Given the description of an element on the screen output the (x, y) to click on. 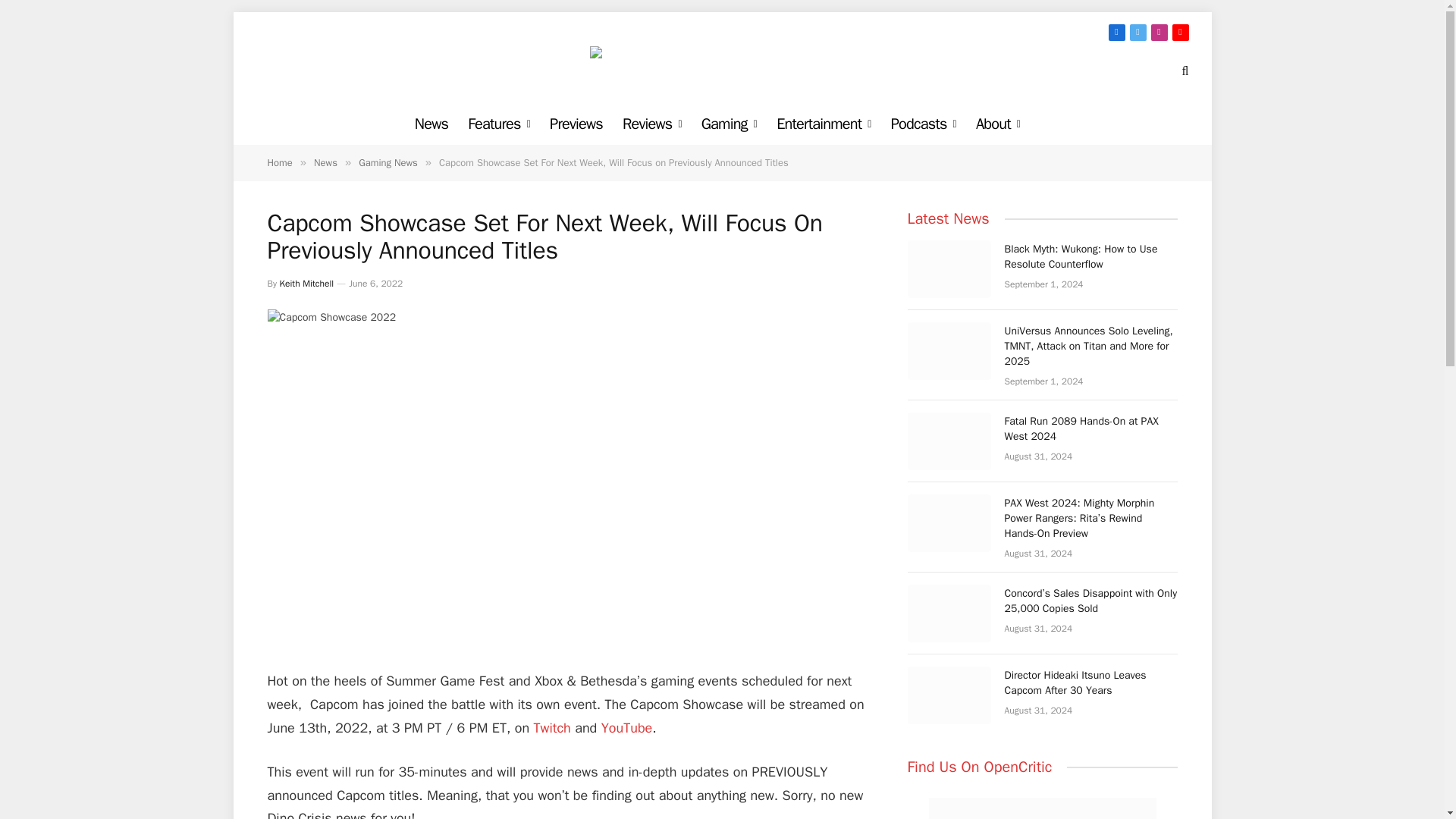
Features (499, 123)
Fatal Run 2089 Hands-On at PAX West 2024 (948, 441)
The Outerhaven (722, 70)
Entertainment (823, 123)
Reviews (651, 123)
Gaming (729, 123)
Director Hideaki Itsuno Leaves Capcom After 30 Years (948, 694)
Instagram (1159, 32)
Posts by Keith Mitchell (306, 283)
